Given the description of an element on the screen output the (x, y) to click on. 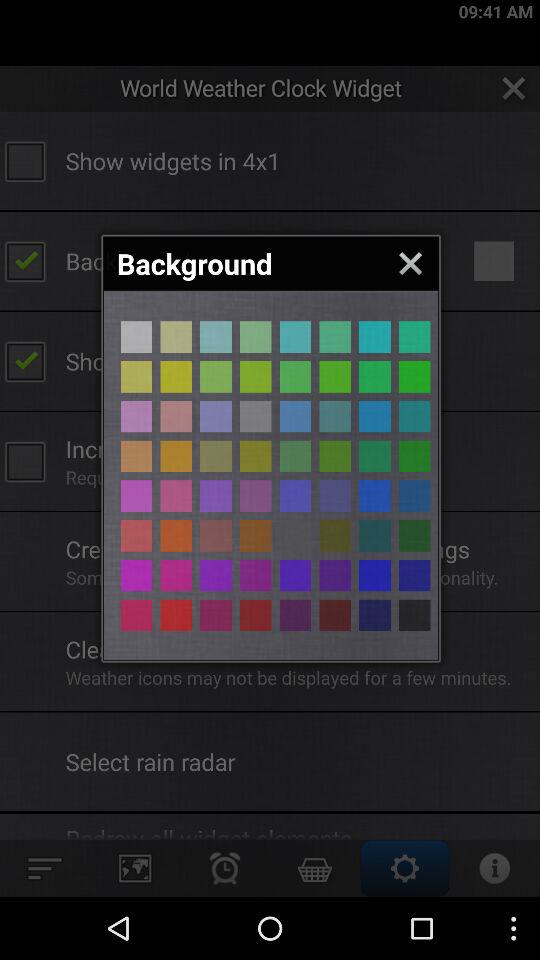
change background color (255, 615)
